Given the description of an element on the screen output the (x, y) to click on. 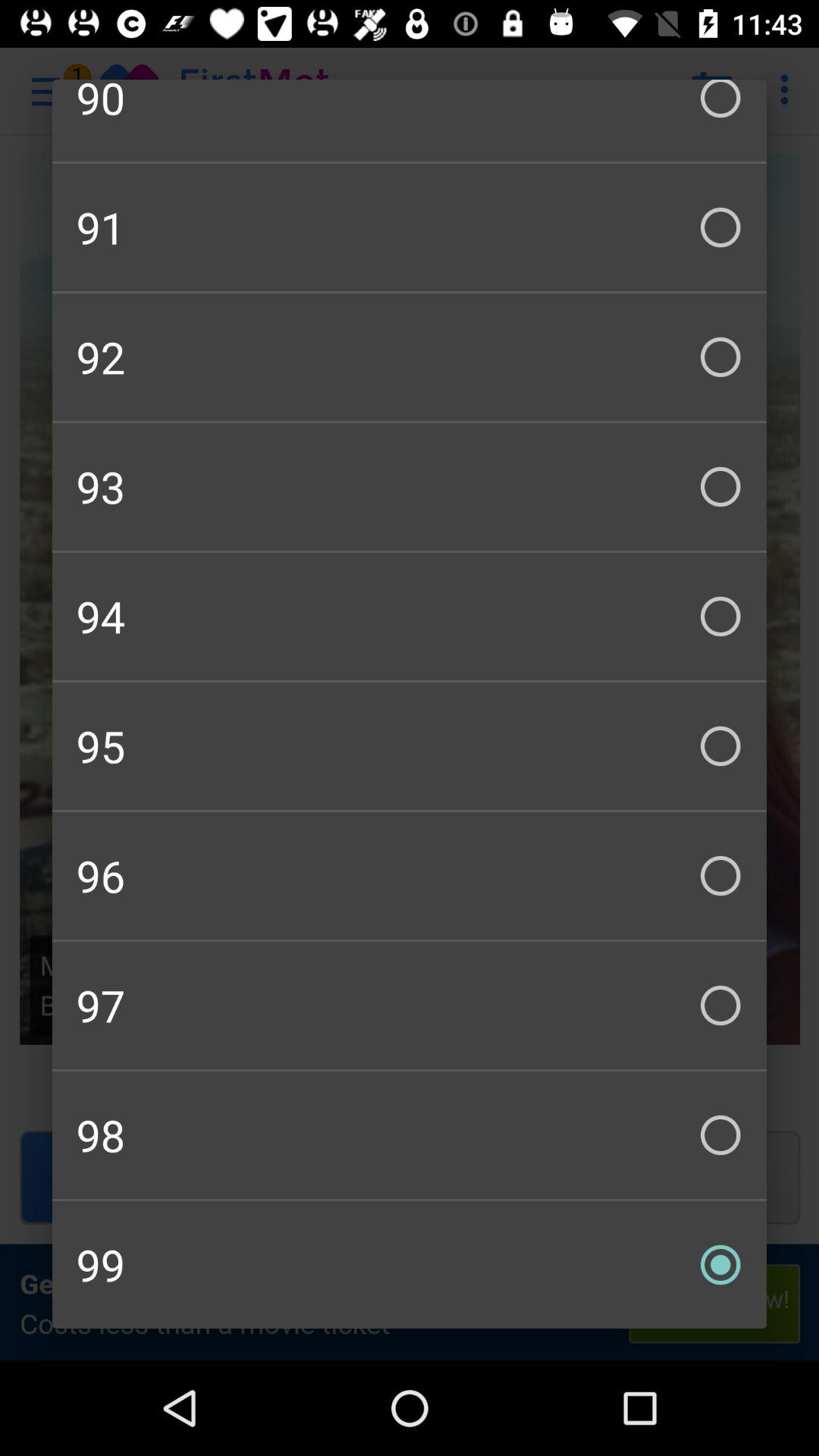
turn off the icon above the 92 checkbox (409, 227)
